Given the description of an element on the screen output the (x, y) to click on. 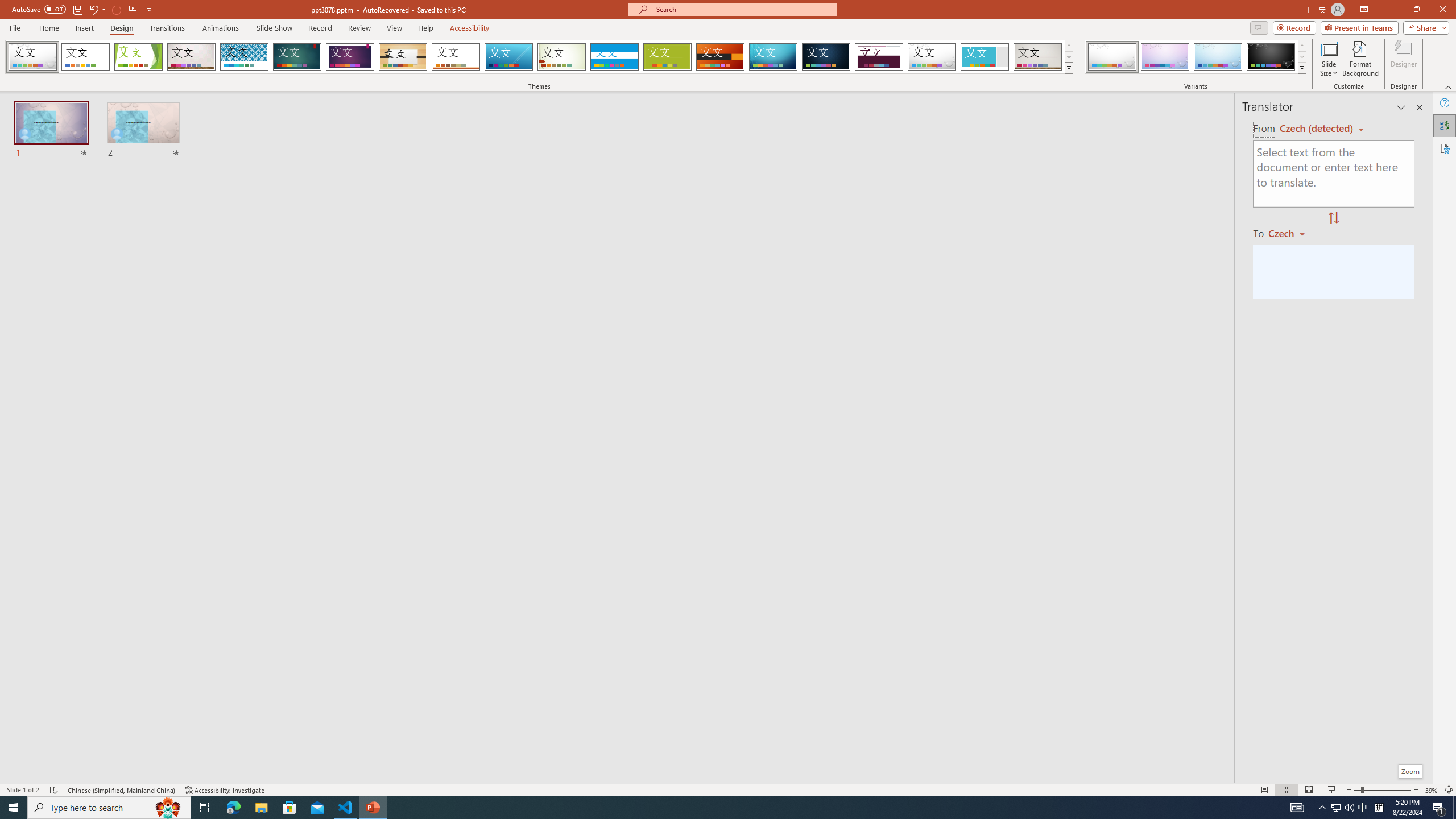
Berlin (720, 56)
Droplet (931, 56)
Organic (403, 56)
Banded (614, 56)
Droplet Variant 4 (1270, 56)
Frame (984, 56)
